Given the description of an element on the screen output the (x, y) to click on. 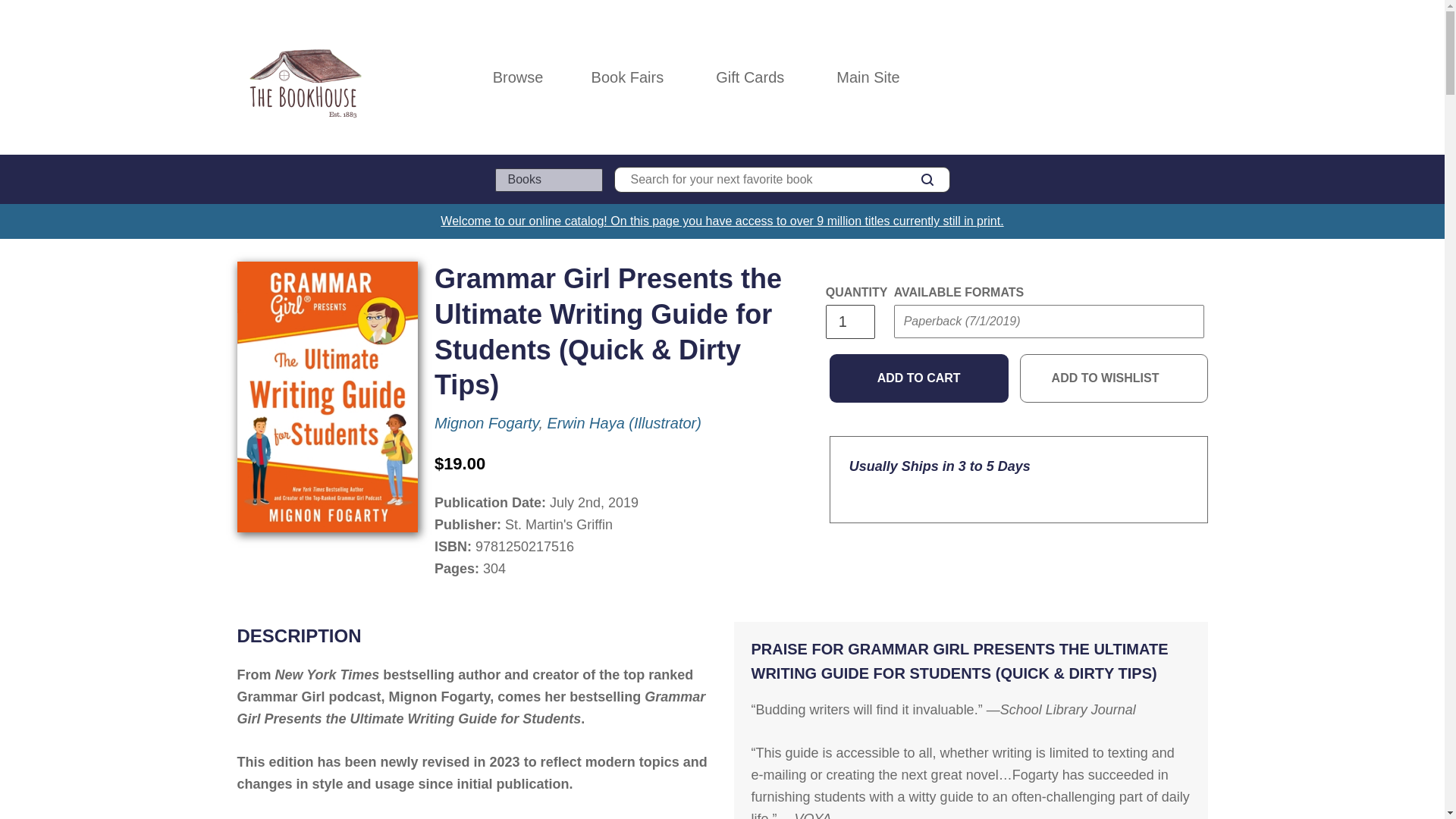
Wishlists (1166, 77)
Log in (1134, 77)
ADD TO WISHLIST (1114, 377)
Mignon Fogarty (485, 422)
Browse (518, 77)
Gift Cards (749, 77)
Log in (1134, 77)
Main Site (868, 77)
